Given the description of an element on the screen output the (x, y) to click on. 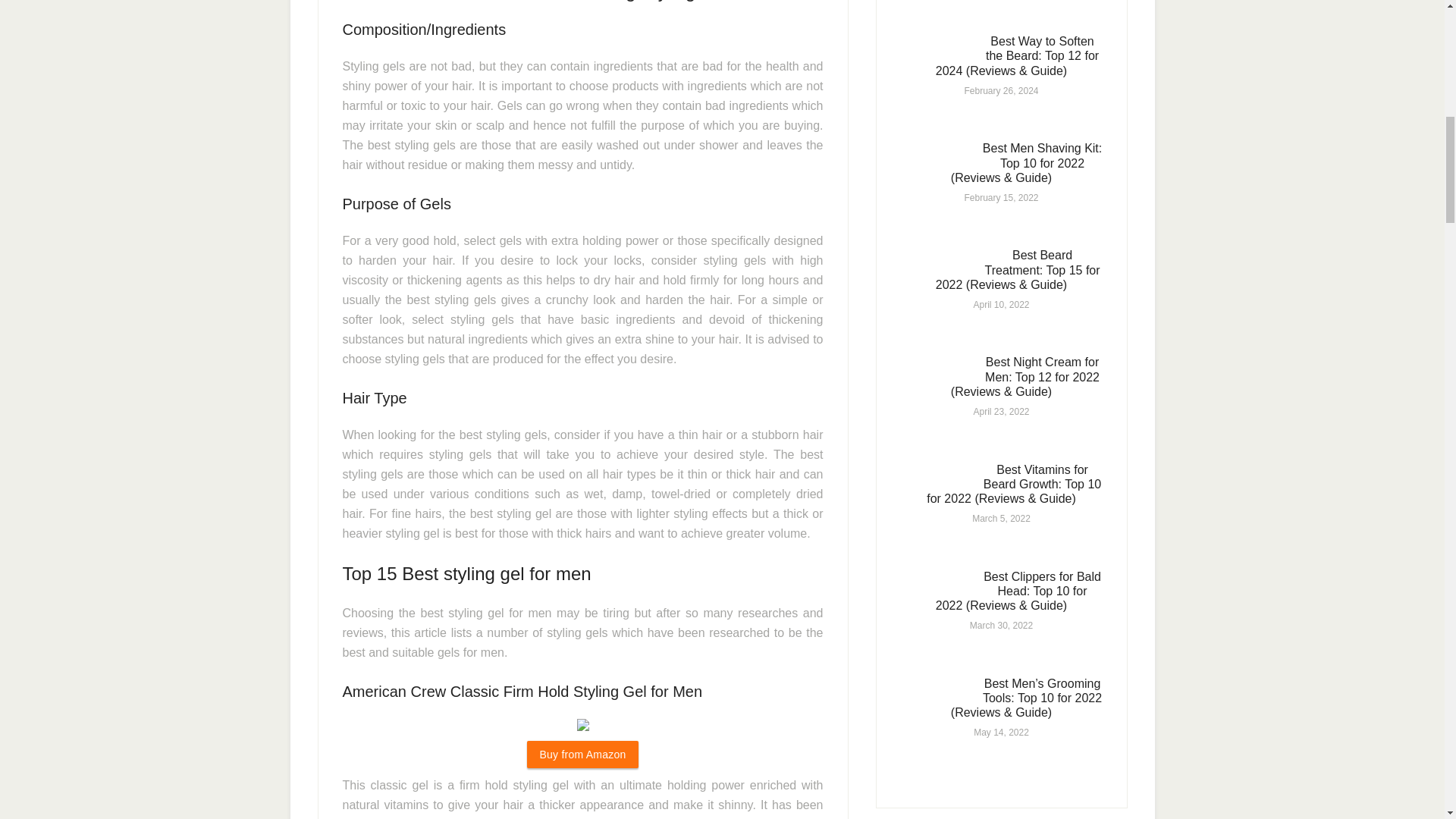
Buy from Amazon (582, 754)
